Given the description of an element on the screen output the (x, y) to click on. 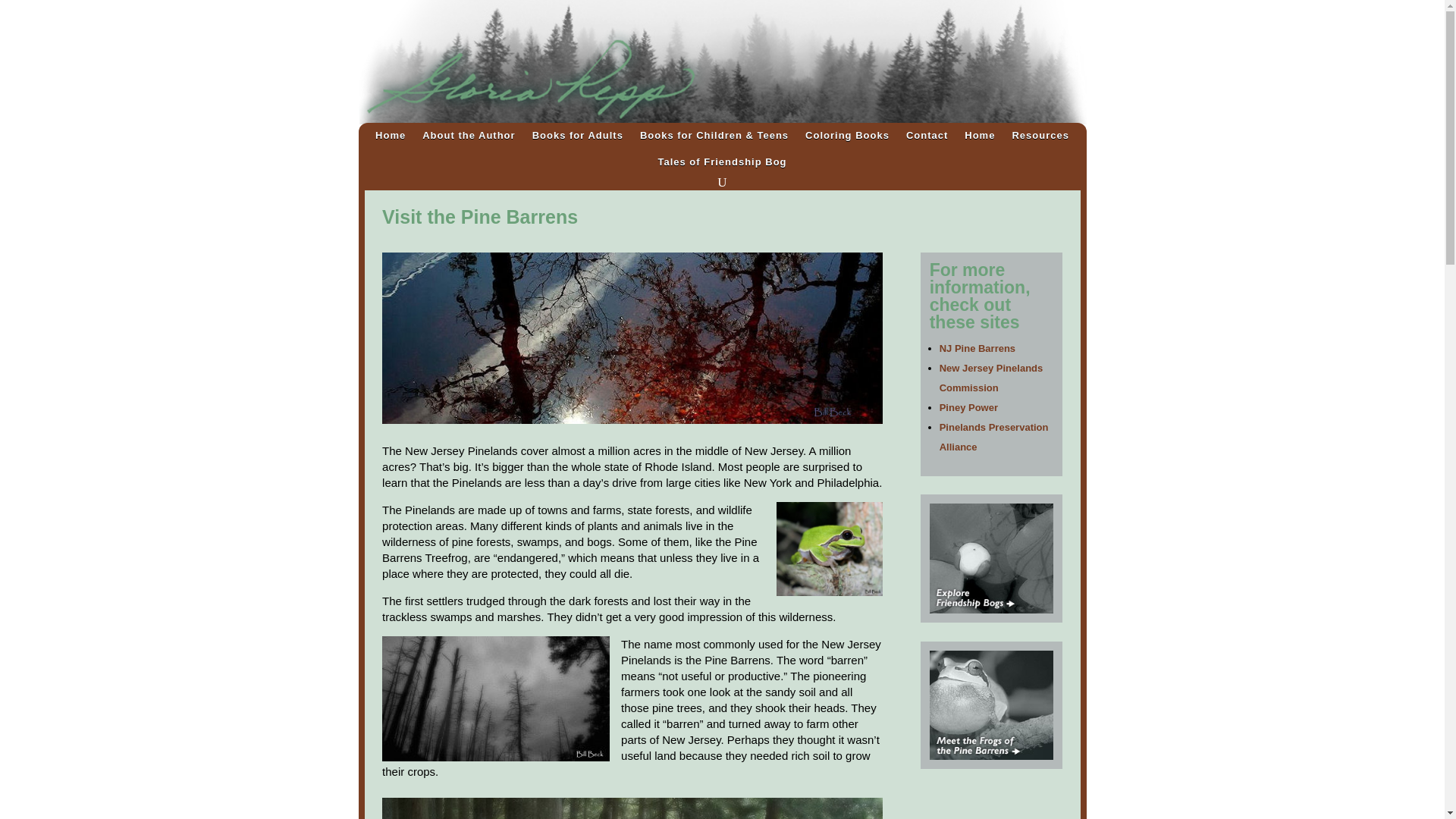
Home (978, 138)
Contact (926, 138)
Tales of Friendship Bog (722, 165)
Books for Adults (577, 138)
Resources (1039, 138)
Coloring Books (847, 138)
About the Author (468, 138)
gloria-repp-header-image (722, 62)
Home (390, 138)
Explore Friendship Bogs (991, 557)
